Given the description of an element on the screen output the (x, y) to click on. 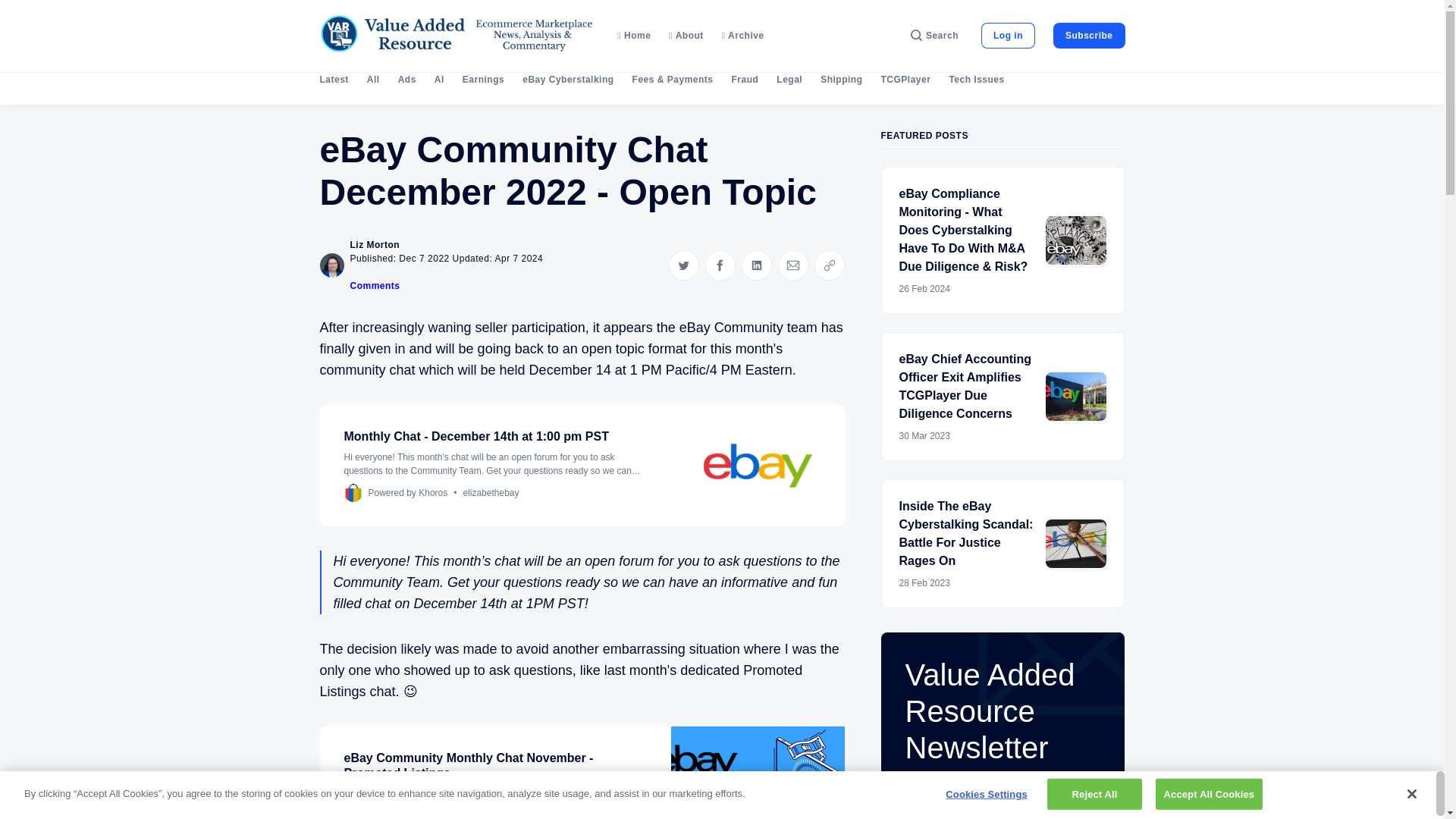
Copy link (828, 265)
All (373, 79)
Share on Facebook (719, 265)
Shipping (841, 79)
Comments (375, 285)
eBay Cyberstalking (567, 79)
Ads (406, 79)
Search (933, 35)
Share via Email (792, 265)
AI (438, 79)
Tech Issues (976, 79)
Share on LinkedIn (756, 265)
TCGPlayer (905, 79)
Fraud (744, 79)
Share on Twitter (683, 265)
